Given the description of an element on the screen output the (x, y) to click on. 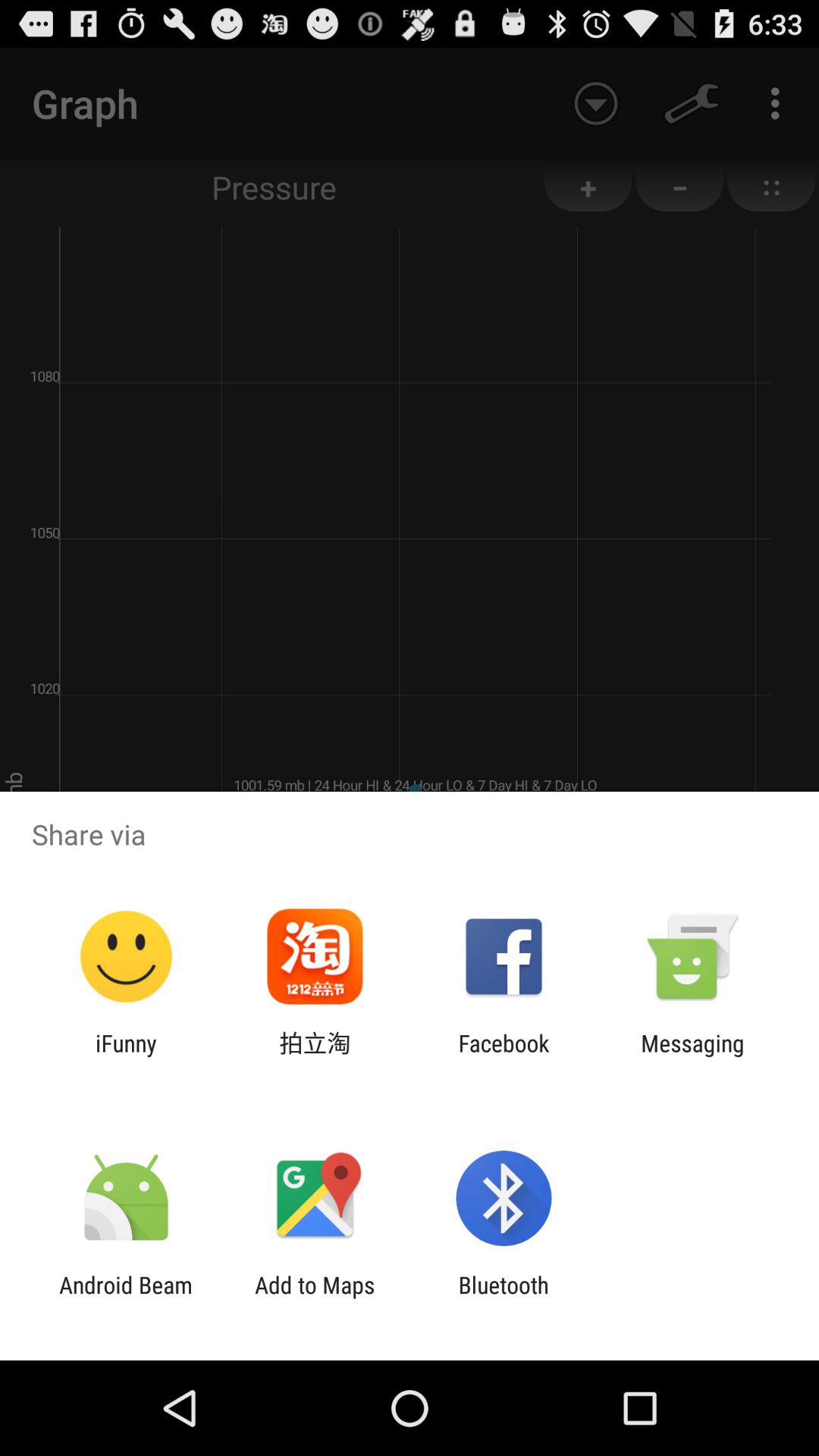
click the app next to messaging item (503, 1056)
